Given the description of an element on the screen output the (x, y) to click on. 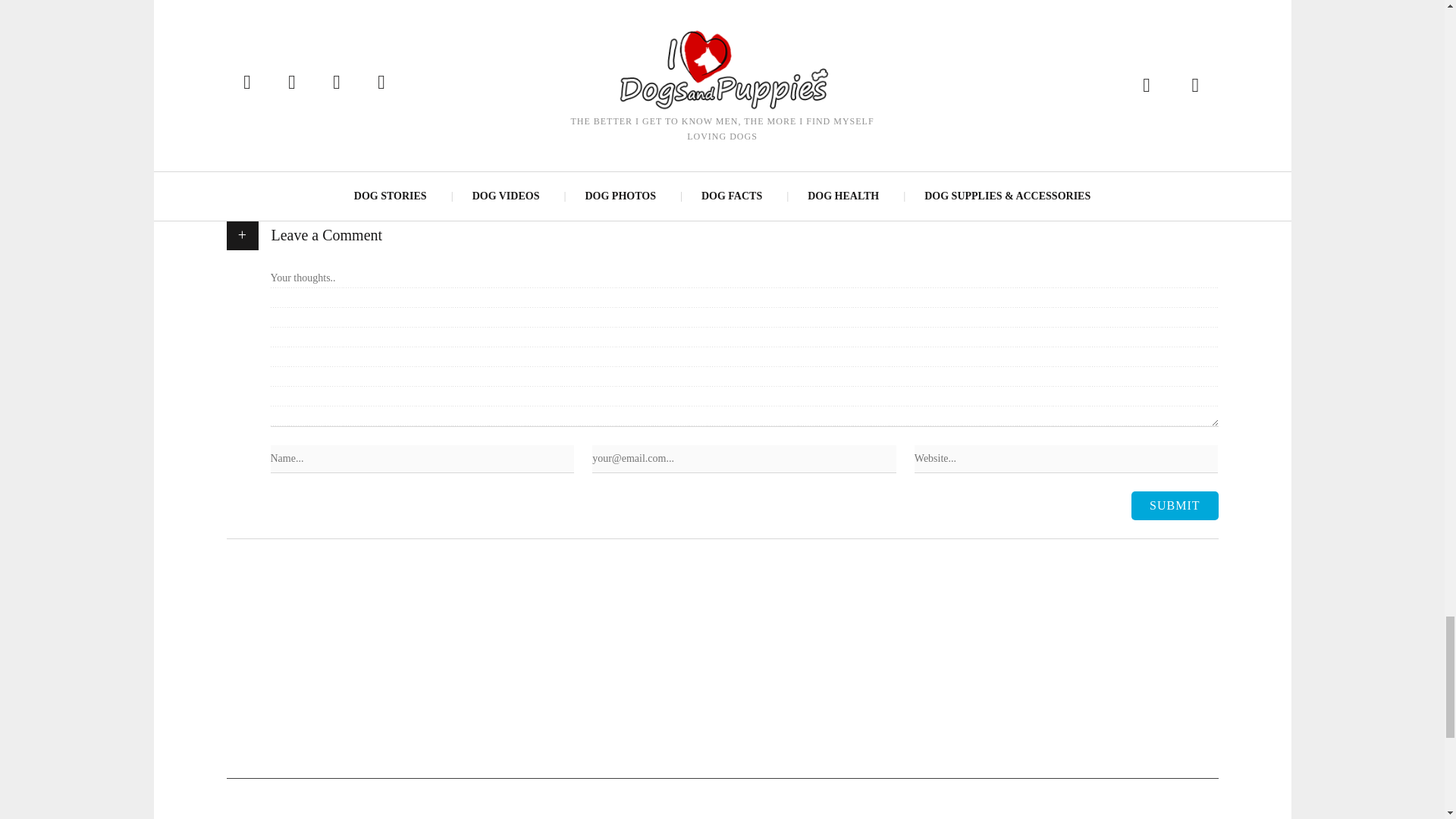
Submit (1174, 505)
ADD YOURS (370, 66)
on December 1, 2021 at 1:18 am (391, 126)
Submit (1174, 505)
